Given the description of an element on the screen output the (x, y) to click on. 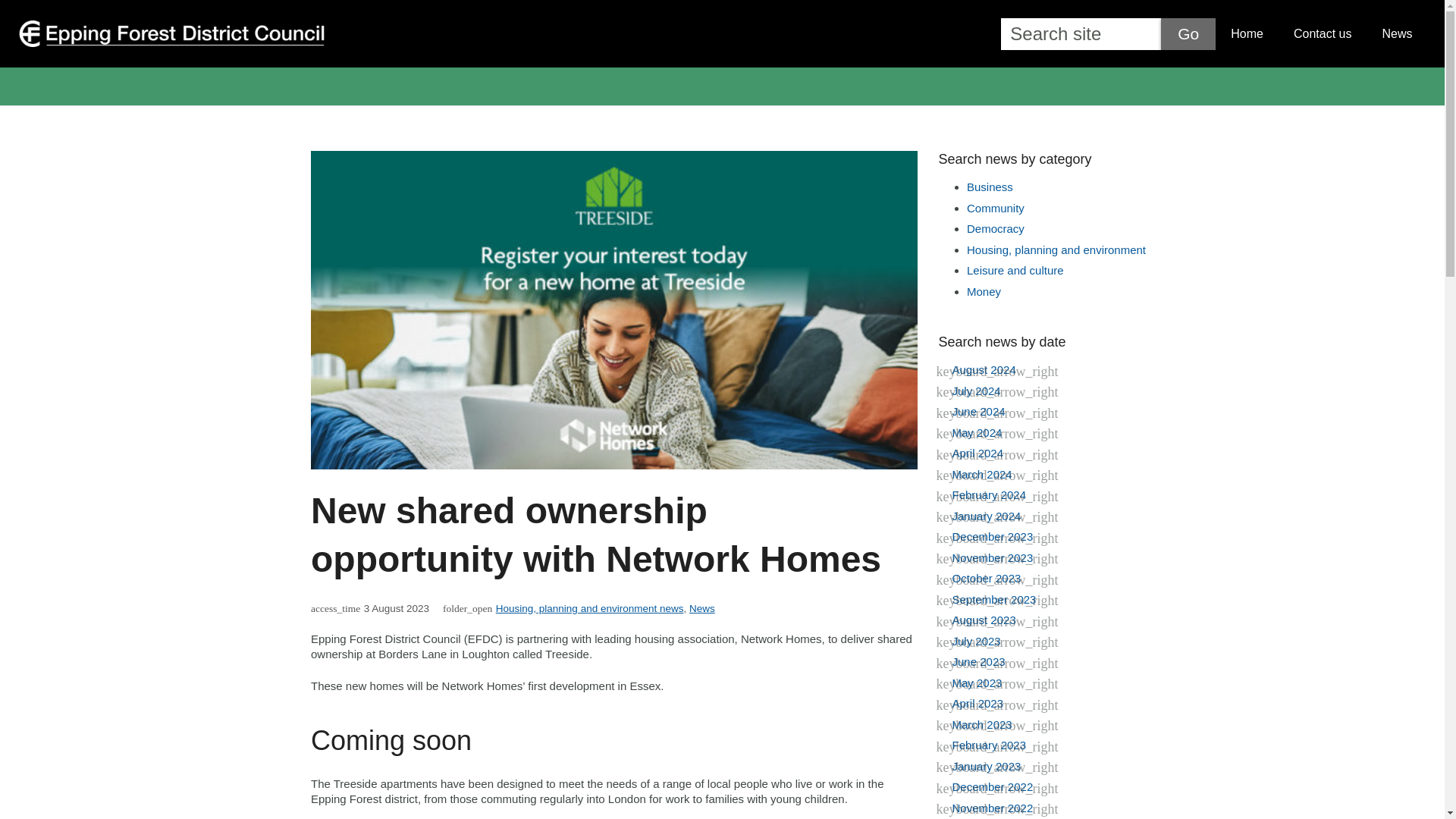
News (1396, 34)
Housing, planning and environment news (590, 608)
News (701, 608)
Go (1187, 33)
Contact us (1322, 34)
Go (1187, 33)
Democracy (995, 228)
Community (995, 207)
Go (1187, 33)
Business (989, 186)
